Given the description of an element on the screen output the (x, y) to click on. 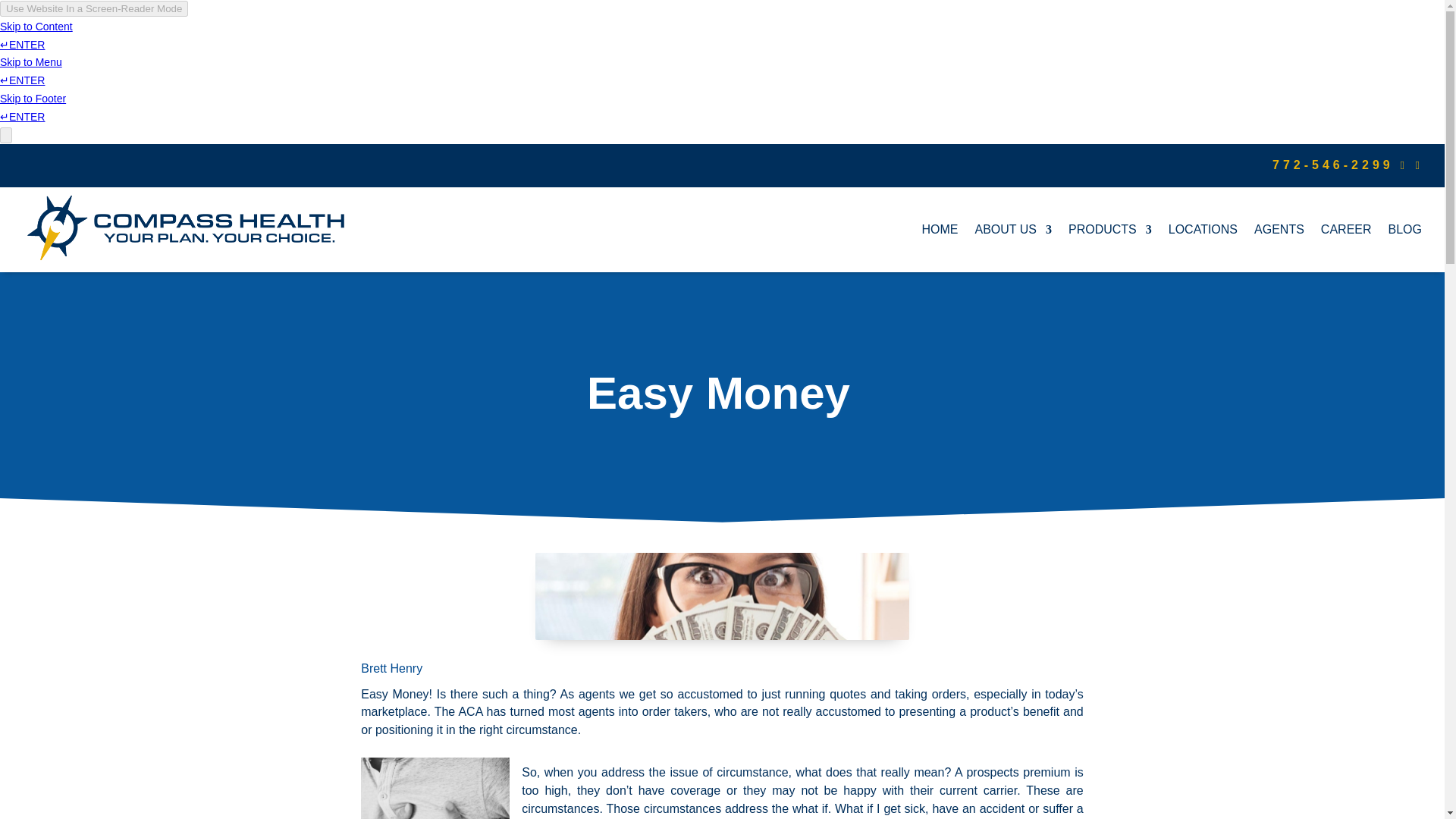
Facebook (1407, 164)
772-546-2299 (1332, 164)
PRODUCTS (1109, 228)
ABOUT US (1012, 228)
Phone (1332, 164)
Easy Money (721, 595)
LOCATIONS (1203, 228)
